Given the description of an element on the screen output the (x, y) to click on. 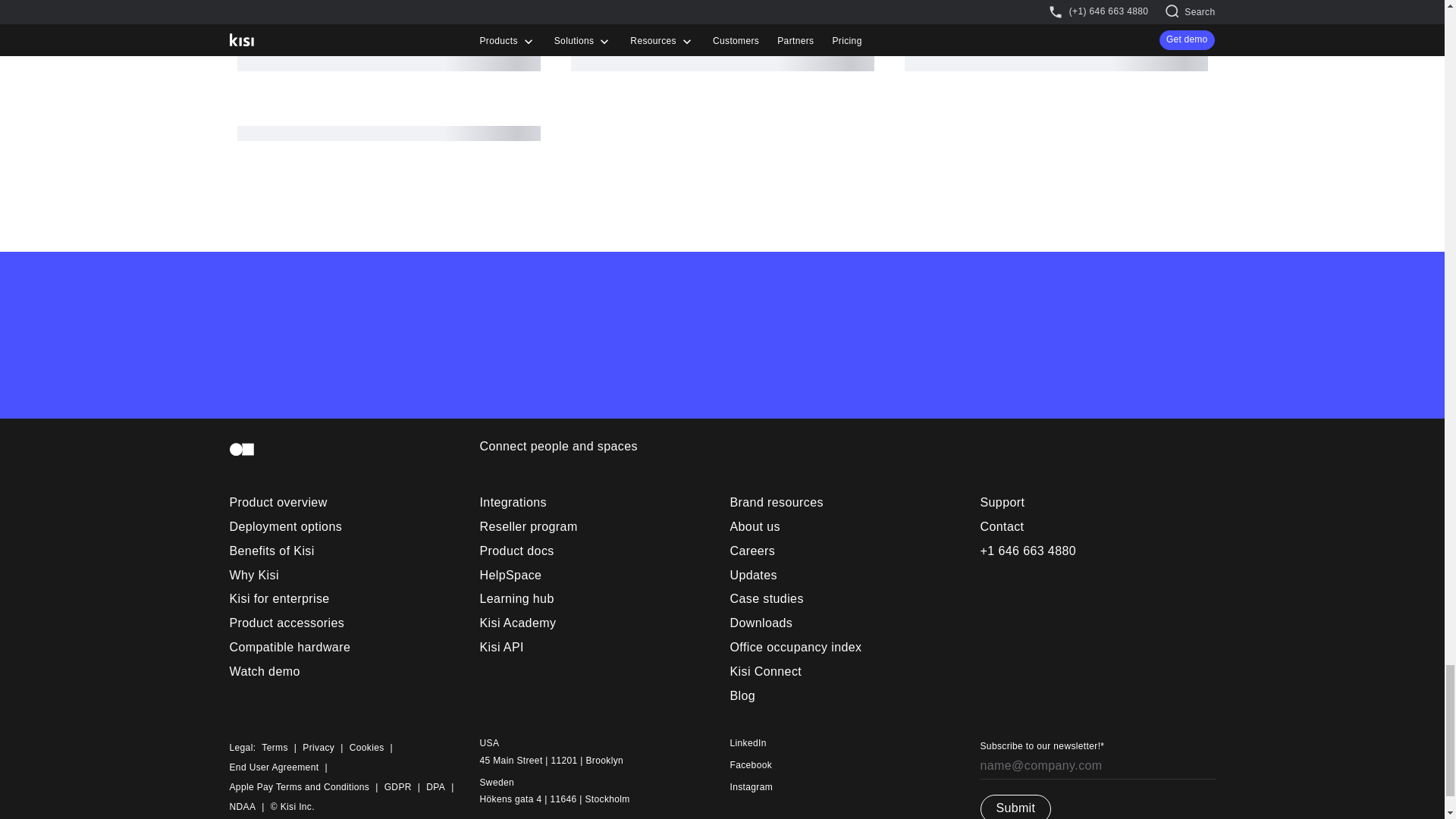
Kisi symbol (240, 449)
